Given the description of an element on the screen output the (x, y) to click on. 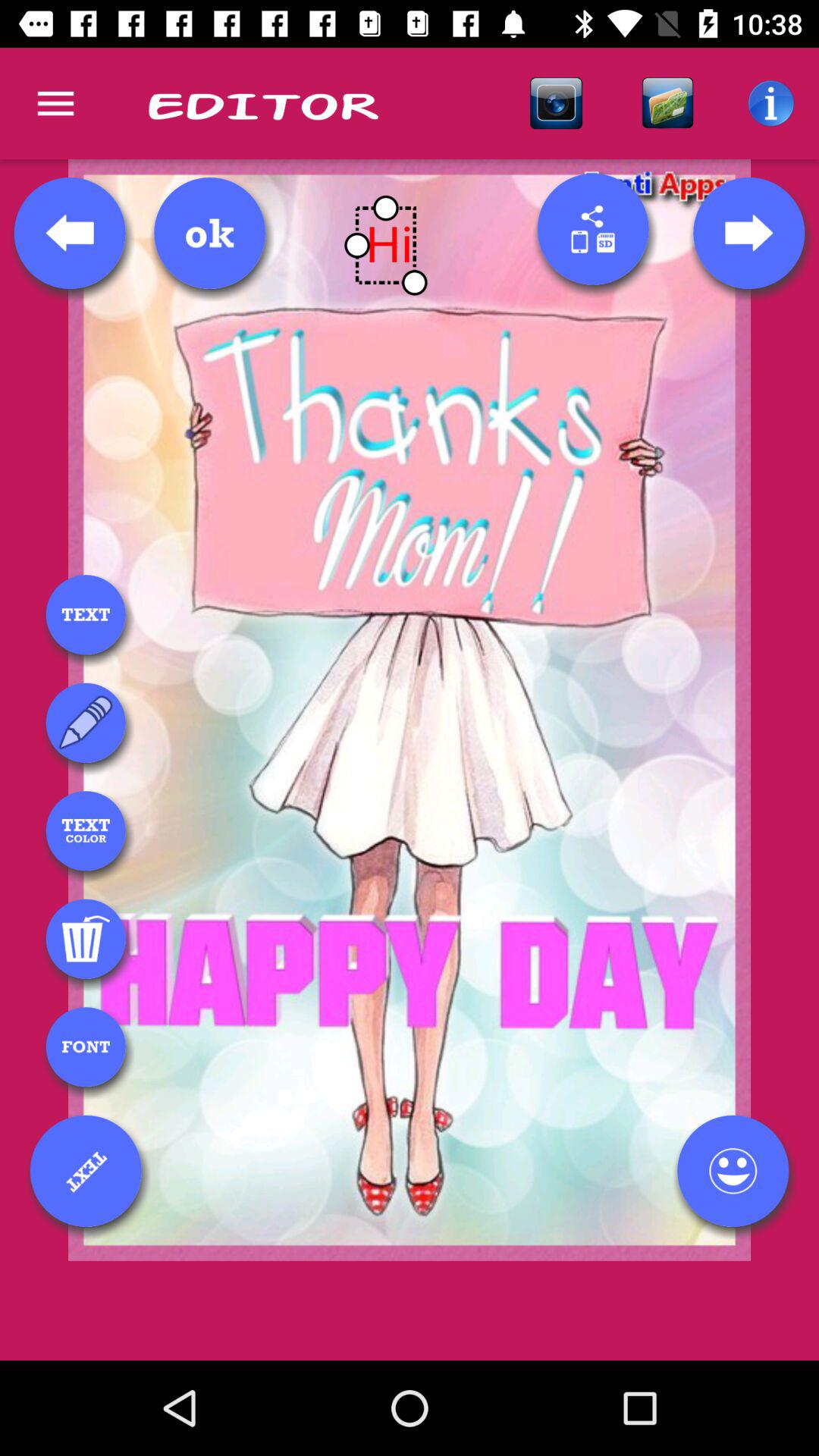
go to previous page (69, 233)
